Given the description of an element on the screen output the (x, y) to click on. 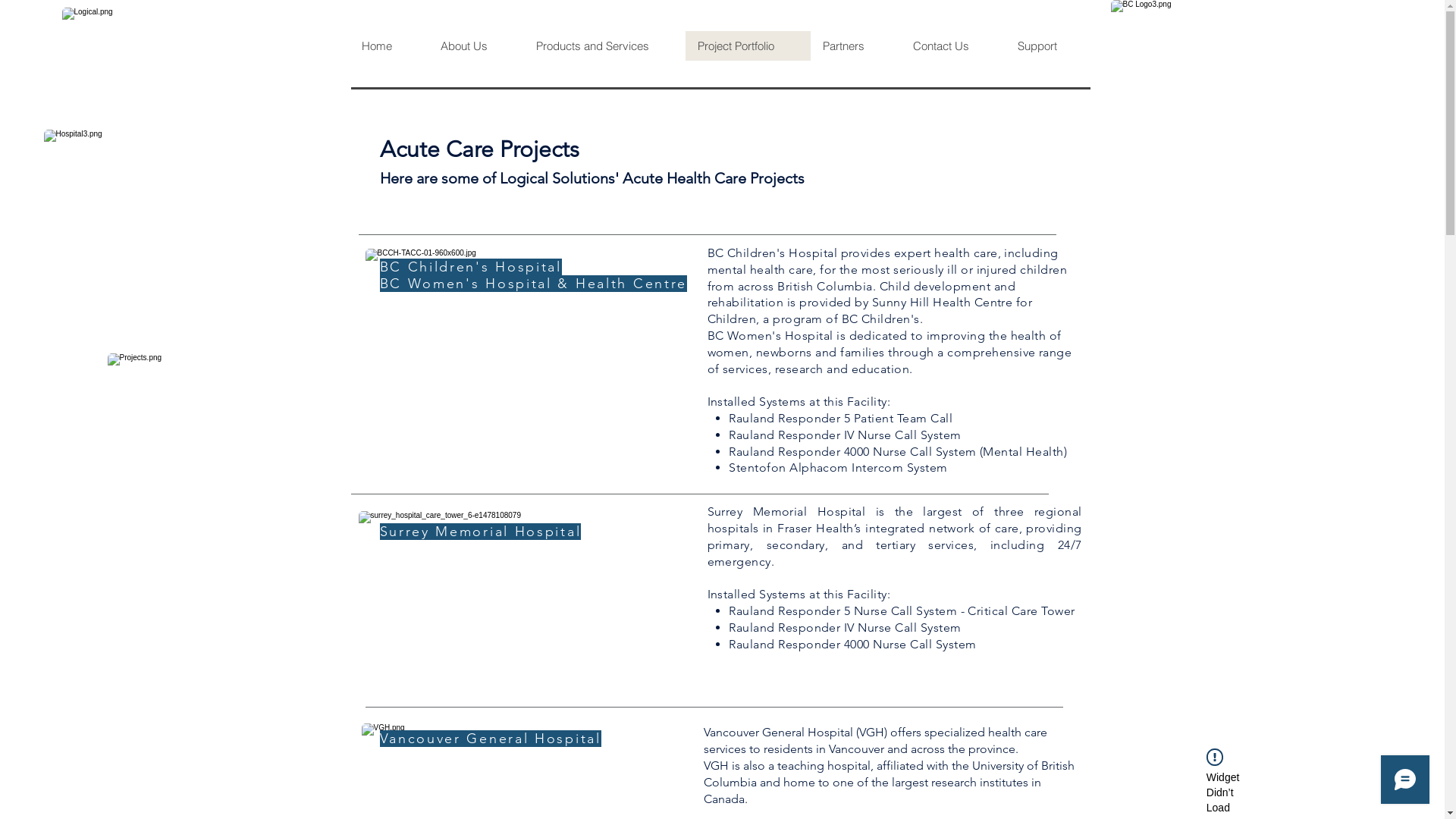
About Us Element type: text (475, 45)
Home Element type: text (389, 45)
Project Portfolio Element type: text (747, 45)
Products and Services Element type: text (603, 45)
Partners Element type: text (854, 45)
Support Element type: text (1049, 45)
Contact Us Element type: text (952, 45)
